Given the description of an element on the screen output the (x, y) to click on. 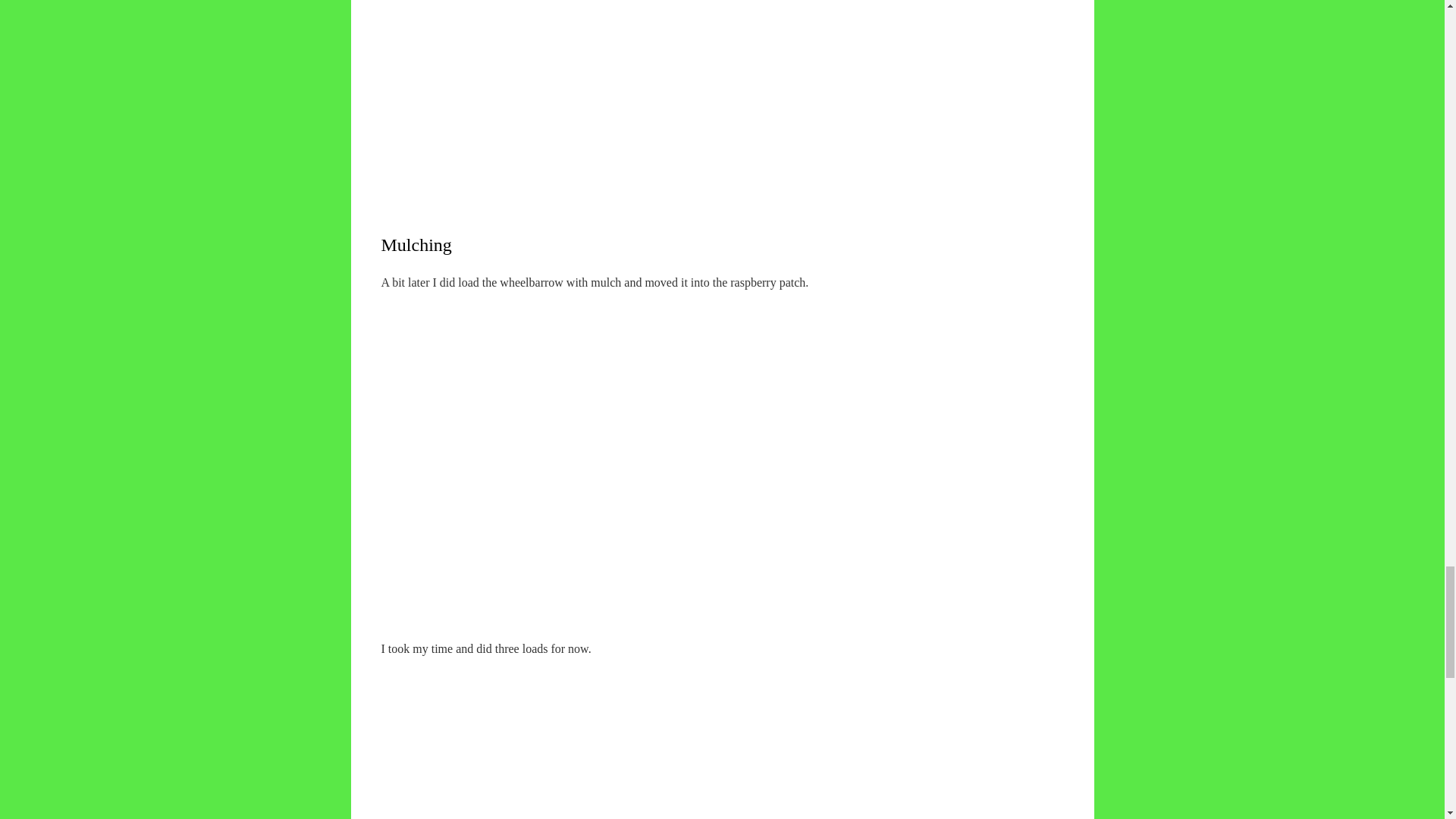
pen7 (630, 85)
patch9 (630, 738)
